Given the description of an element on the screen output the (x, y) to click on. 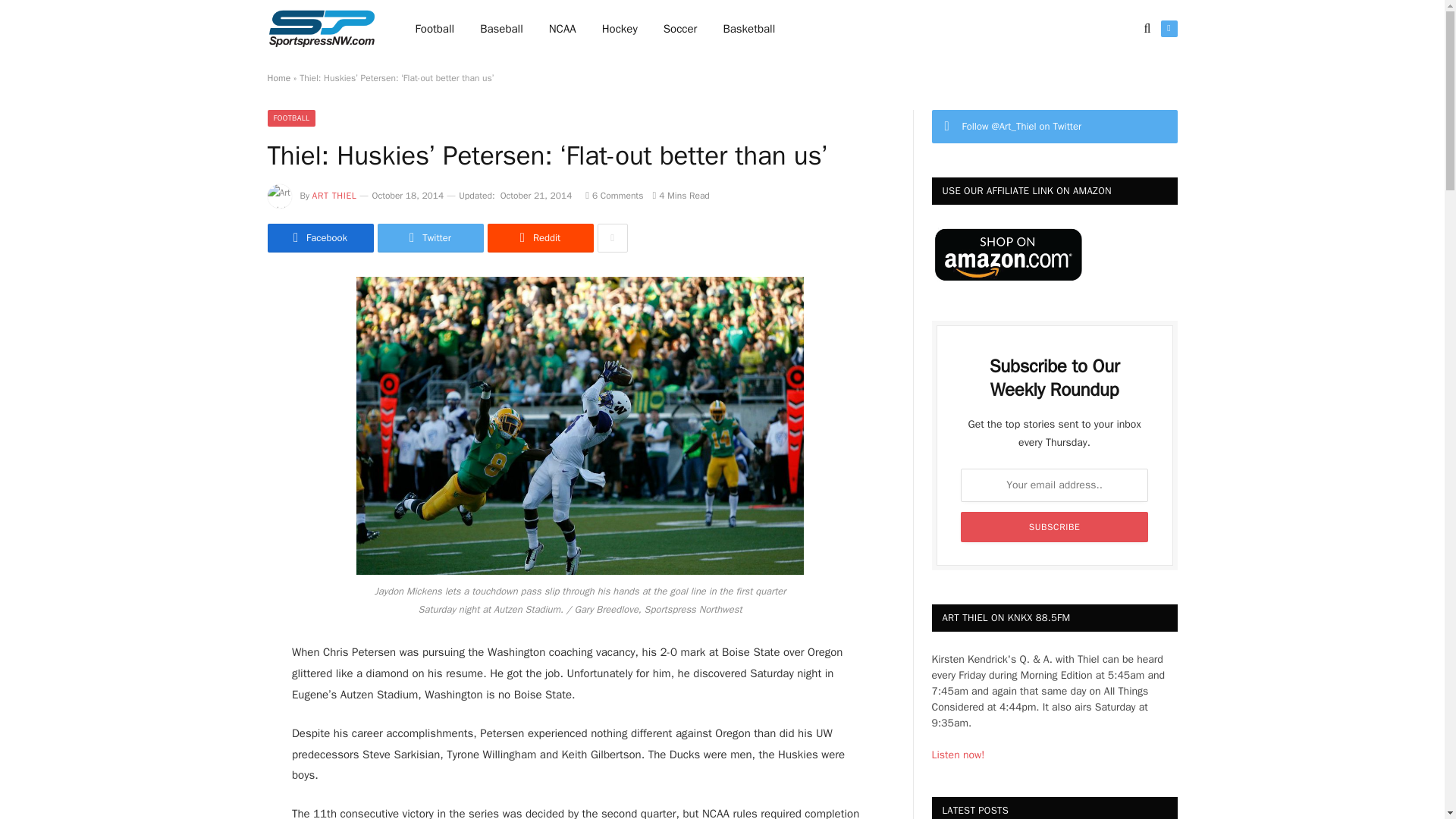
6 Comments (614, 195)
FOOTBALL (290, 117)
Football (435, 28)
Share on Twitter (430, 237)
NCAA (562, 28)
Soccer (680, 28)
Share on Twitter (319, 237)
Basketball (748, 28)
Show More Social Sharing (611, 237)
Facebook (319, 237)
